Given the description of an element on the screen output the (x, y) to click on. 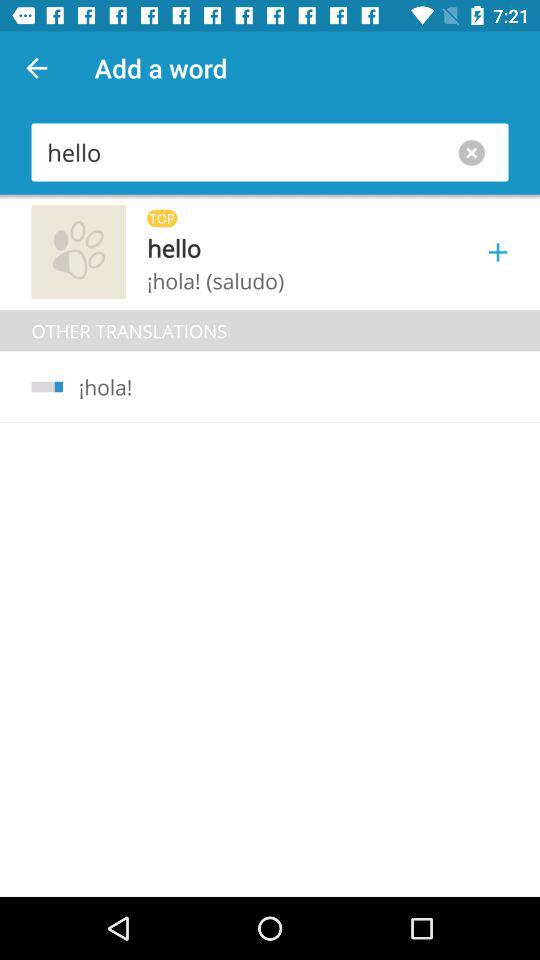
turn on icon below the other translations icon (47, 386)
